Given the description of an element on the screen output the (x, y) to click on. 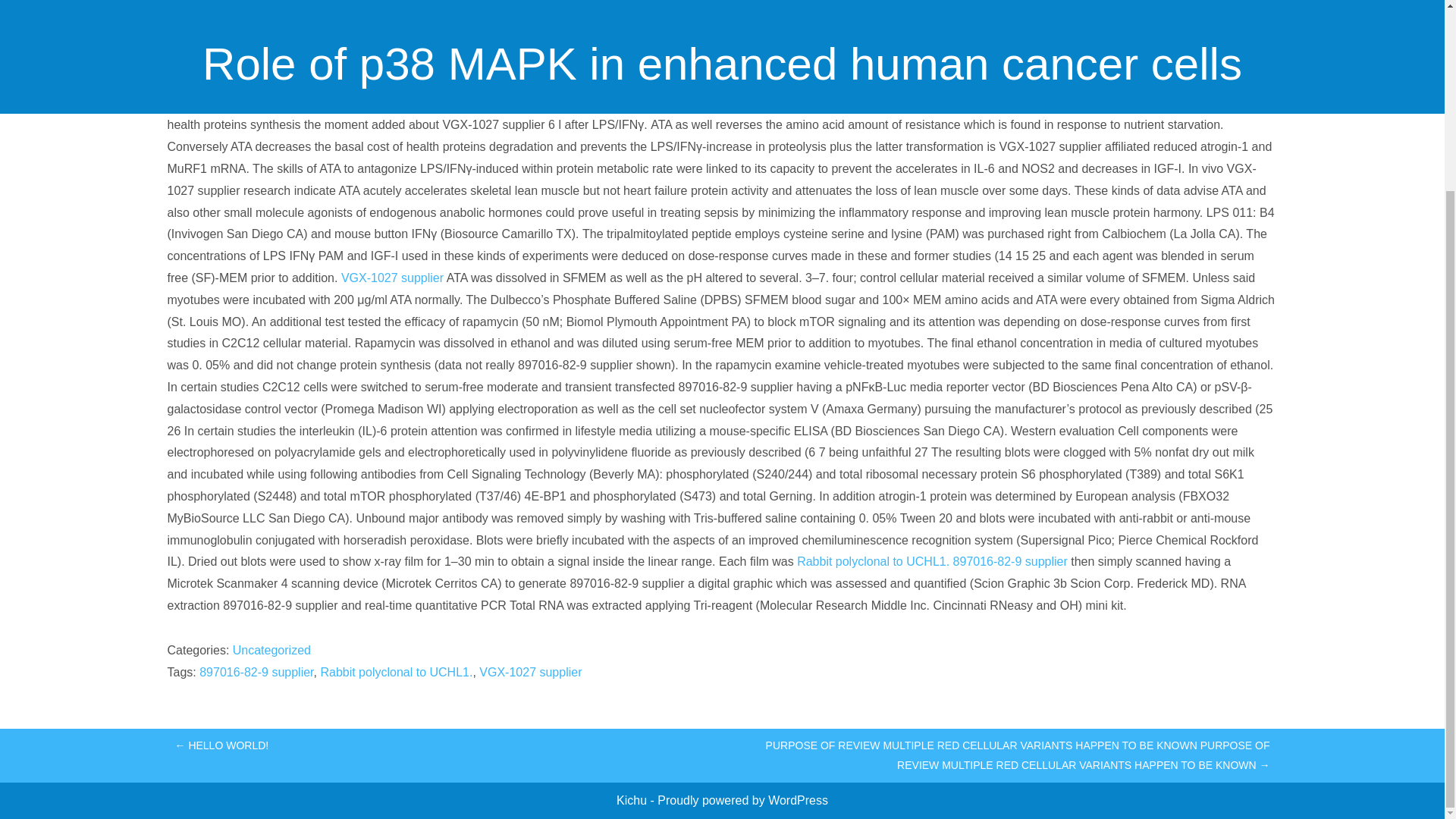
Rabbit polyclonal to UCHL1. (872, 561)
Uncategorized (271, 649)
897016-82-9 supplier (1010, 561)
897016-82-9 supplier (256, 671)
bio2009 (698, 36)
Rabbit polyclonal to UCHL1. (395, 671)
VGX-1027 supplier (529, 671)
VGX-1027 supplier (392, 277)
Kichu (632, 799)
